Given the description of an element on the screen output the (x, y) to click on. 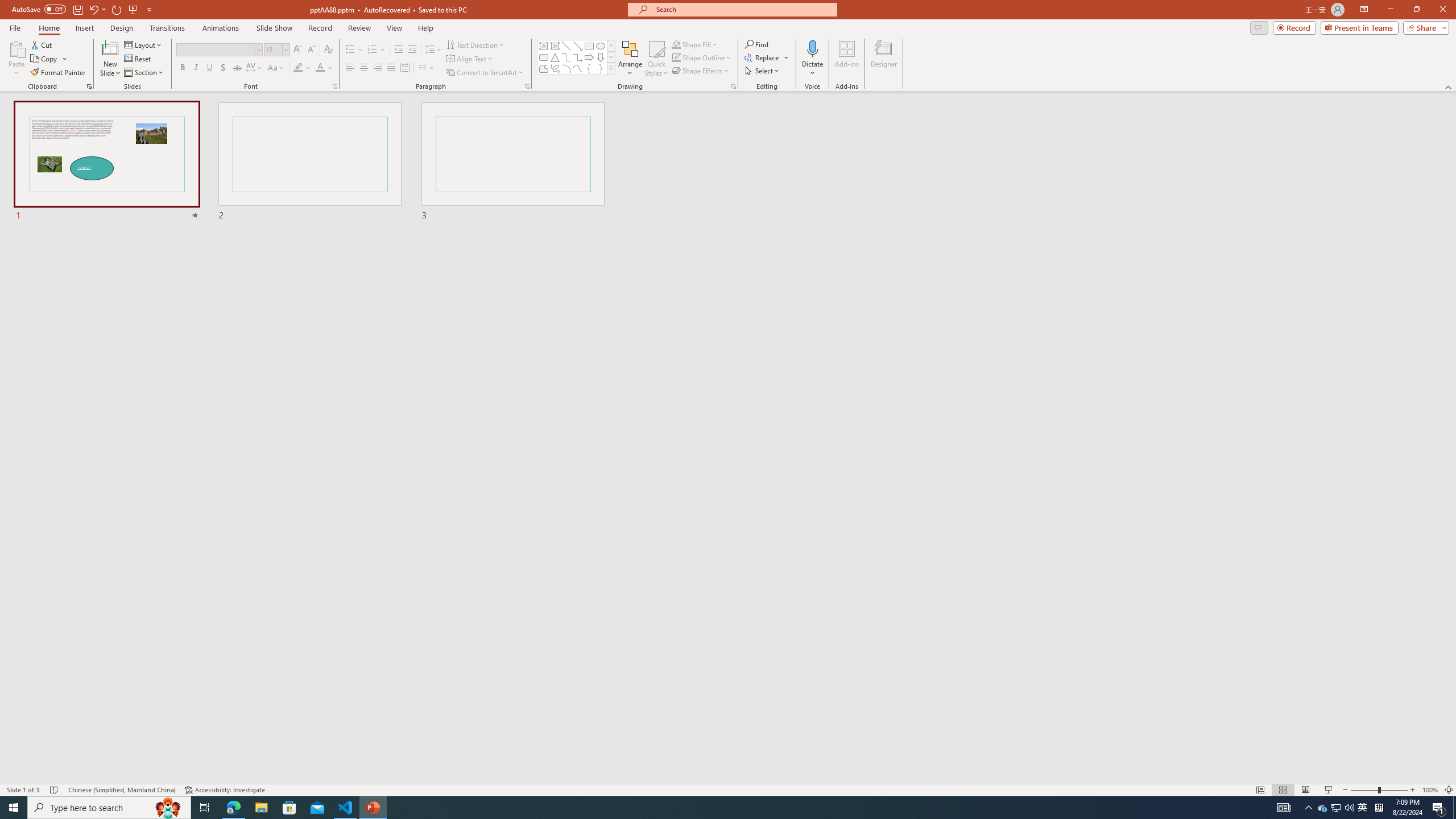
Text Highlight Color Yellow (297, 67)
Freeform: Shape (543, 68)
Align Right (377, 67)
Text Direction (476, 44)
Help (425, 28)
Customize Quick Access Toolbar (149, 9)
Center (363, 67)
Shape Effects (700, 69)
Increase Indent (412, 49)
More Options (812, 68)
Bullets (349, 49)
Justify (390, 67)
File Tab (15, 27)
Decrease Indent (398, 49)
Dictate (812, 58)
